Given the description of an element on the screen output the (x, y) to click on. 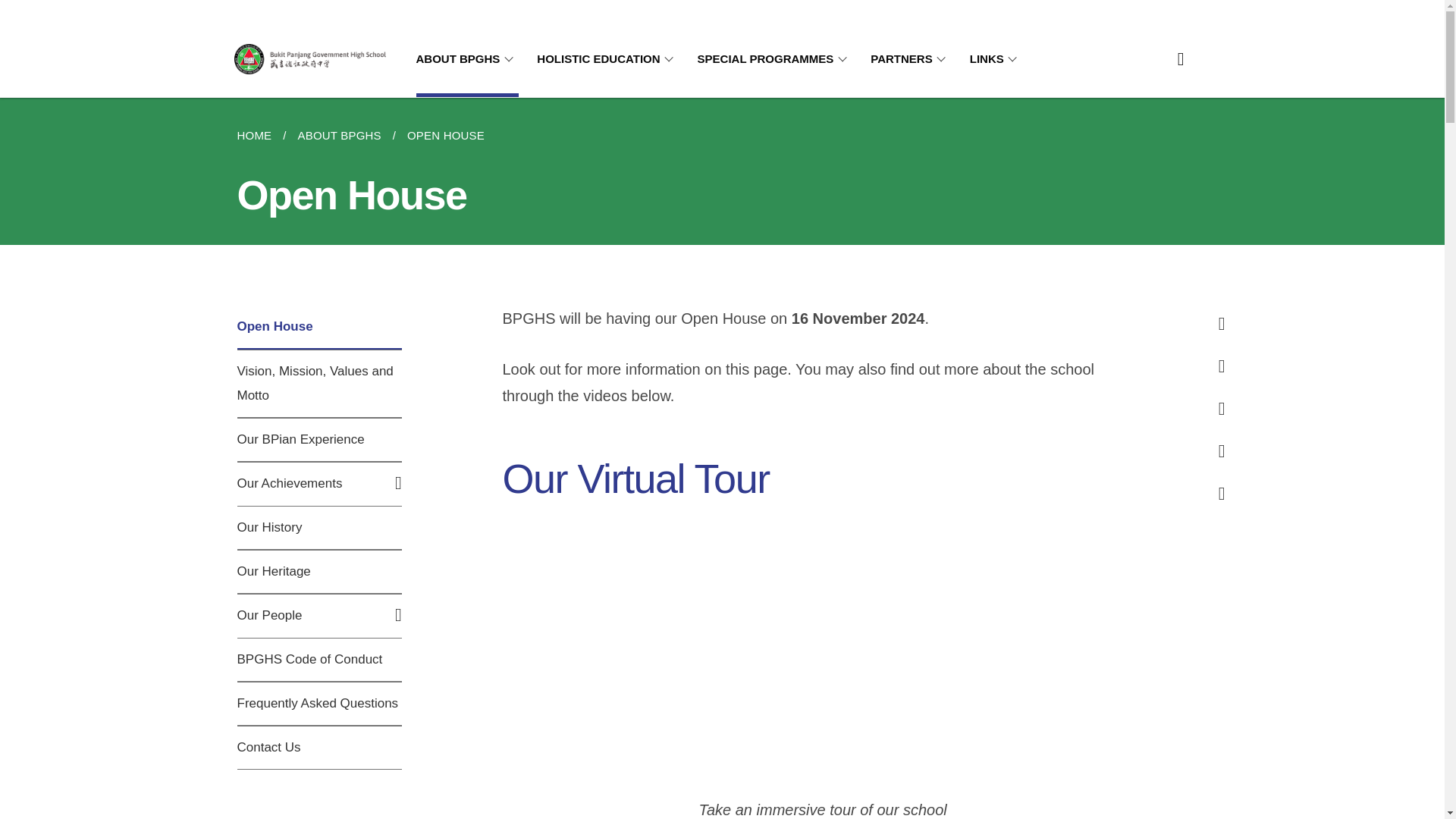
ABOUT BPGHS (466, 59)
HOLISTIC EDUCATION (607, 59)
PARTNERS (910, 59)
SPECIAL PROGRAMMES (775, 59)
YouTube video player (822, 644)
